Given the description of an element on the screen output the (x, y) to click on. 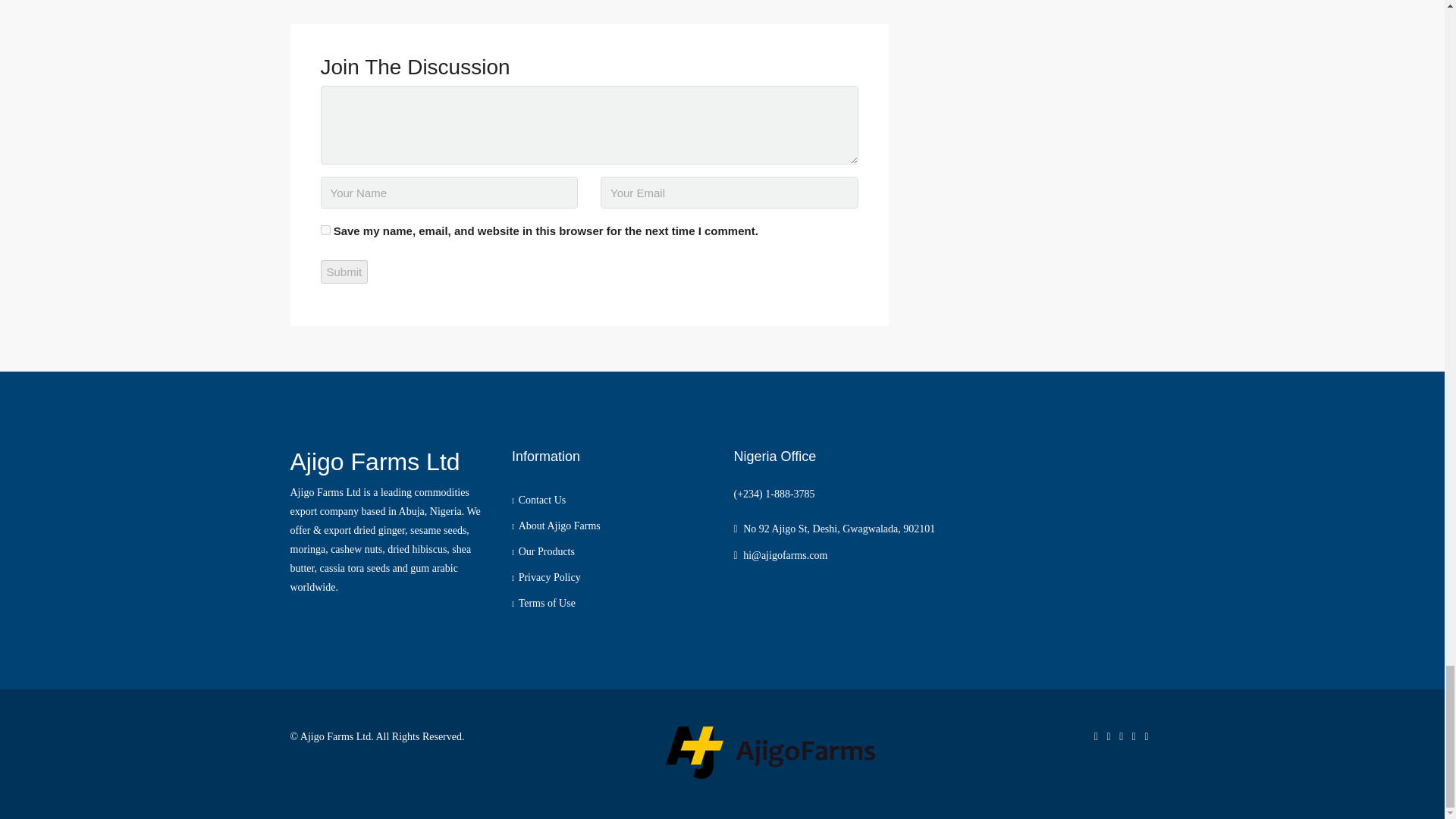
Submit (344, 271)
yes (325, 230)
